Given the description of an element on the screen output the (x, y) to click on. 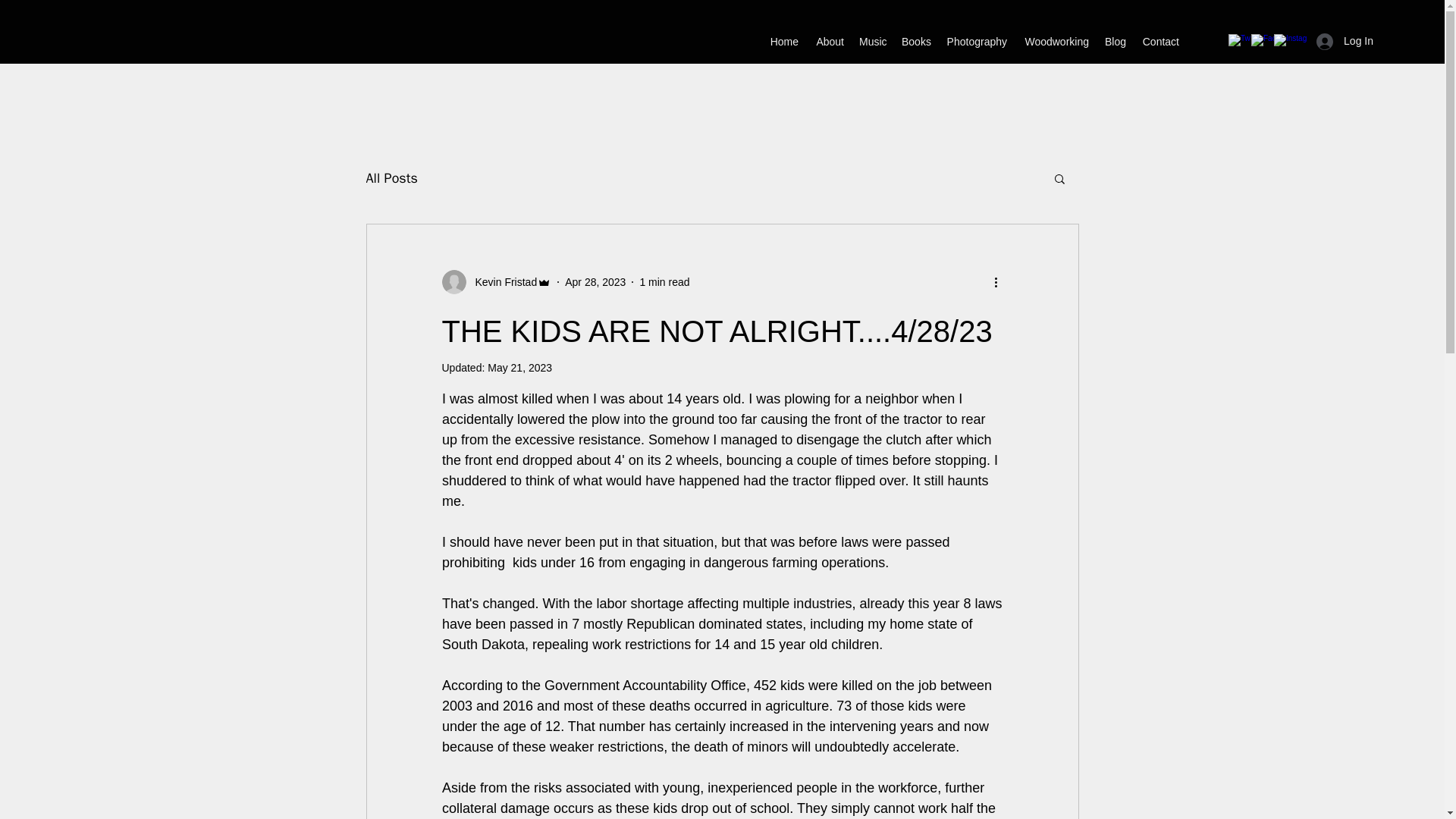
Apr 28, 2023 (595, 282)
All Posts (390, 177)
Photography (975, 41)
Blog (1115, 41)
Music (872, 41)
Log In (1345, 41)
May 21, 2023 (519, 367)
Contact (1160, 41)
About (828, 41)
1 min read (663, 282)
Woodworking (1055, 41)
Kevin Fristad (501, 282)
Home (783, 41)
Books (915, 41)
Kevin Fristad (496, 282)
